Given the description of an element on the screen output the (x, y) to click on. 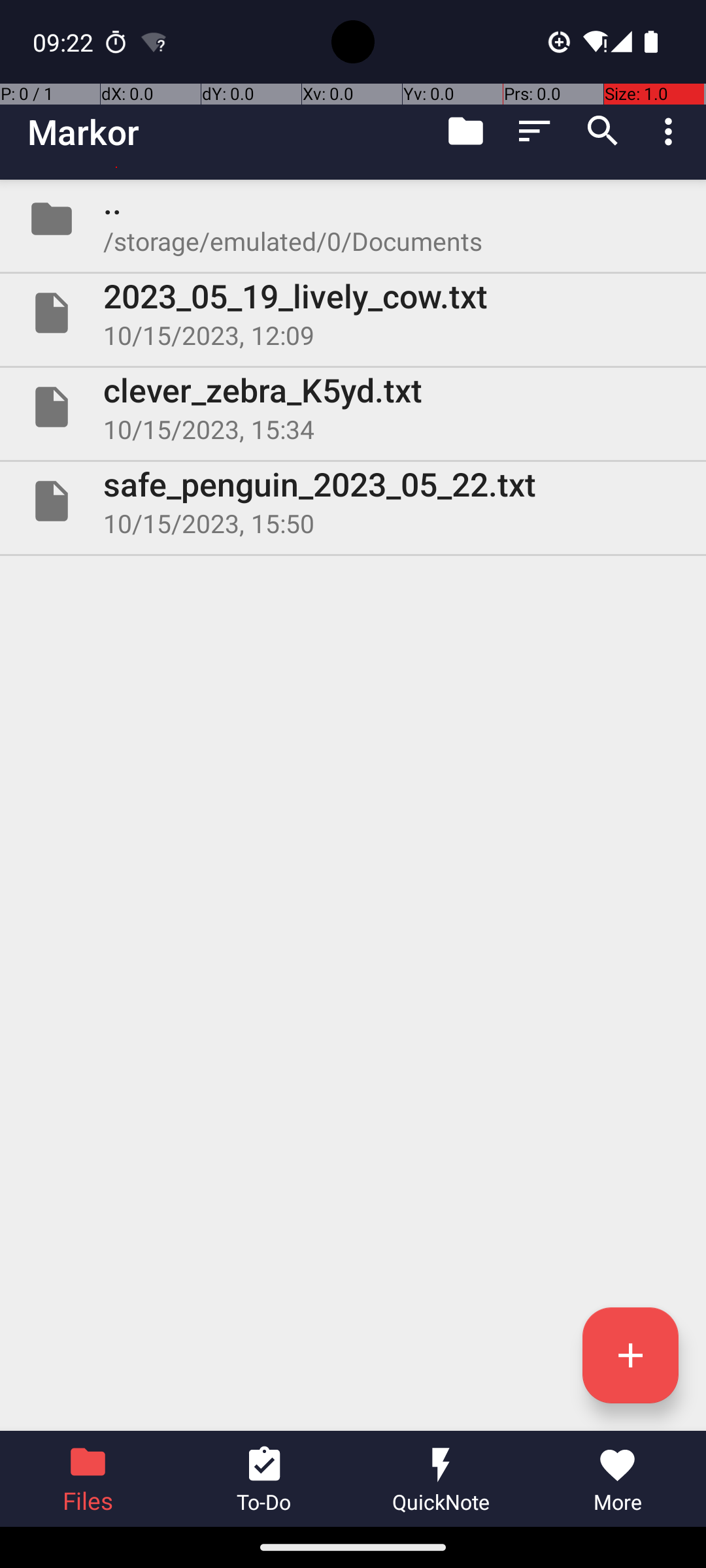
File 2023_05_19_lively_cow.txt  Element type: android.widget.LinearLayout (353, 312)
File clever_zebra_K5yd.txt  Element type: android.widget.LinearLayout (353, 406)
File safe_penguin_2023_05_22.txt  Element type: android.widget.LinearLayout (353, 500)
09:22 Element type: android.widget.TextView (64, 41)
